Given the description of an element on the screen output the (x, y) to click on. 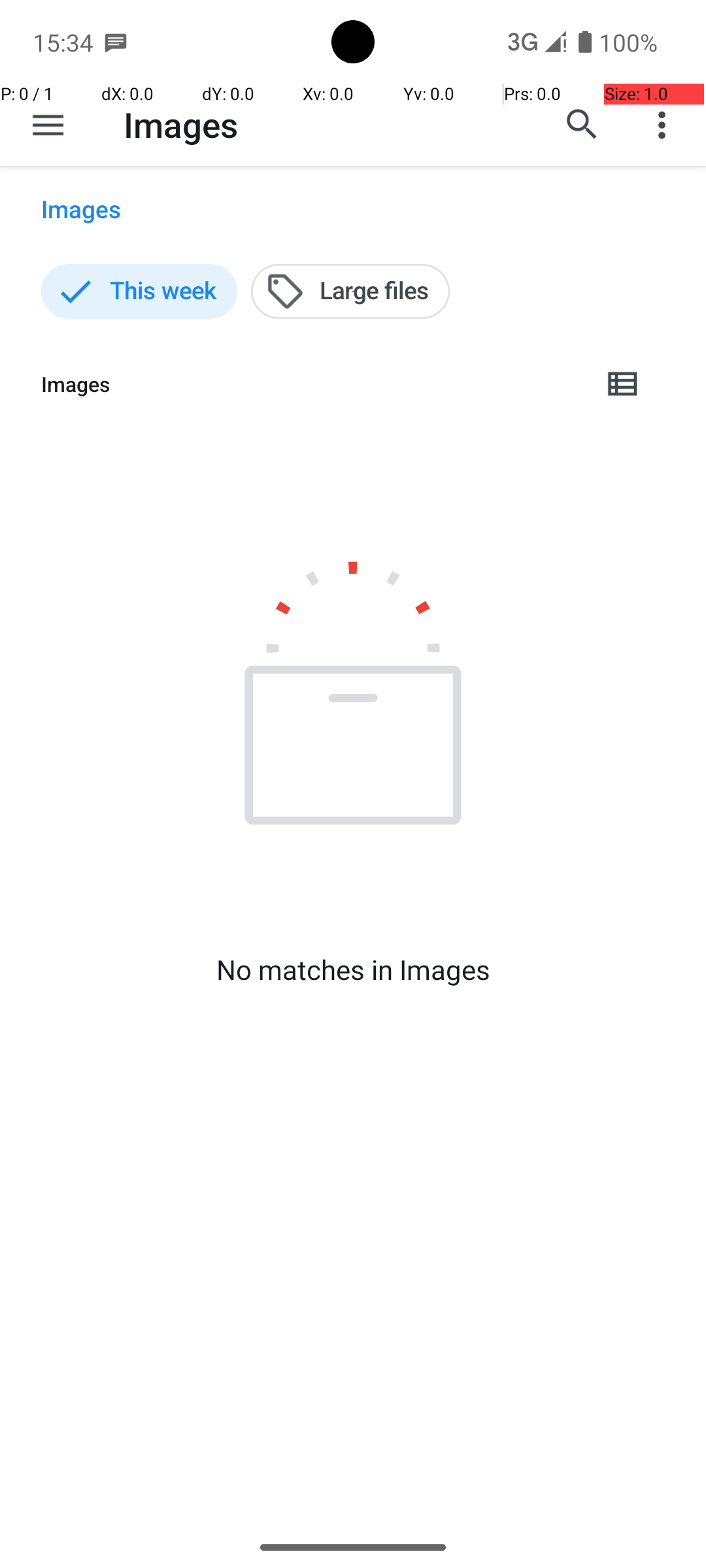
This week Element type: android.widget.CompoundButton (139, 291)
Large files Element type: android.widget.CompoundButton (350, 291)
No matches in Images Element type: android.widget.TextView (352, 968)
SMS Messenger notification: +12845986552 Element type: android.widget.ImageView (115, 41)
